Given the description of an element on the screen output the (x, y) to click on. 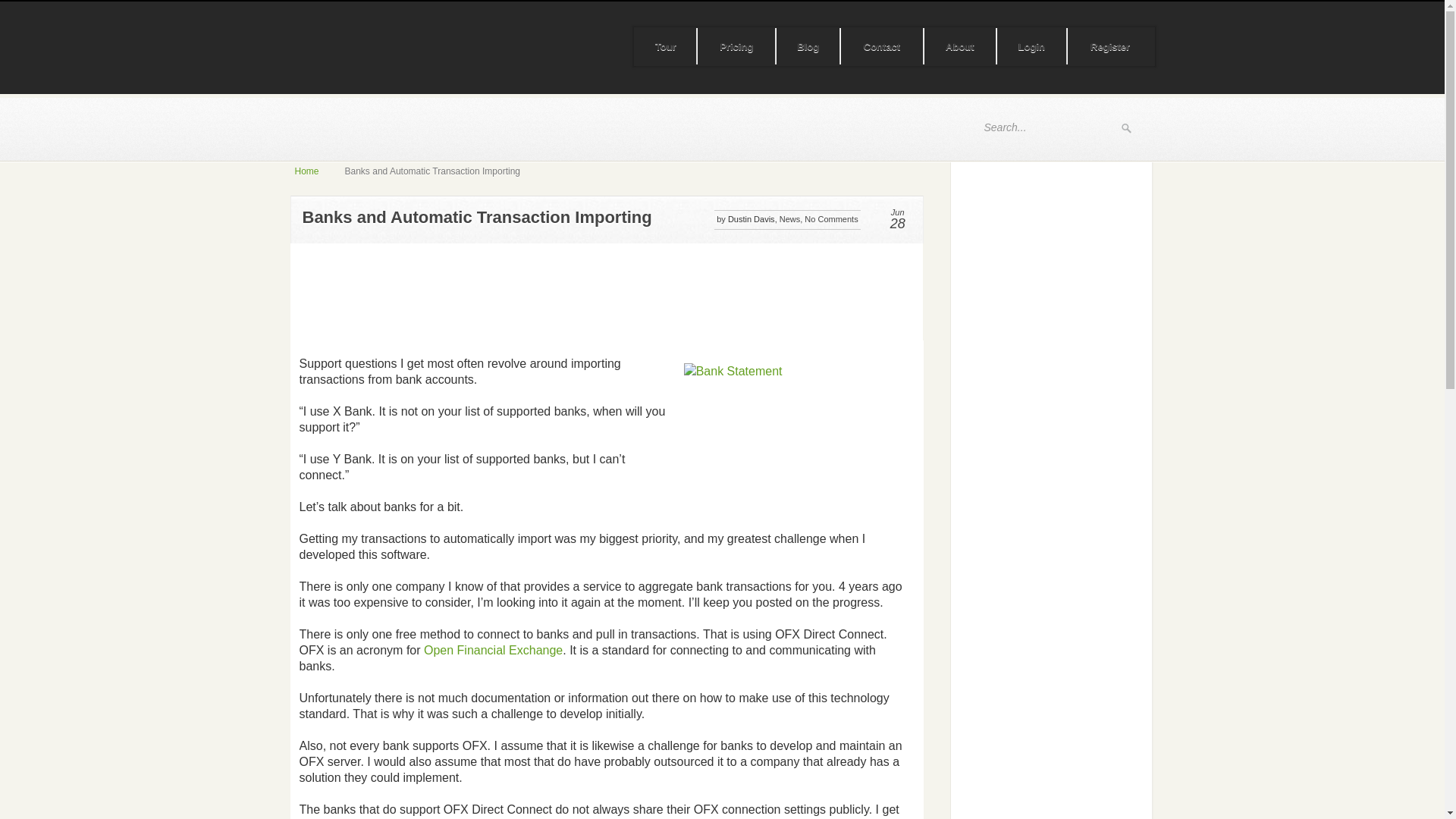
Contact (882, 46)
Tour (665, 46)
Search (1125, 128)
Blog (808, 46)
Search... (1045, 127)
Posts by Dustin Davis (751, 218)
Home (306, 171)
Open Financial Exchange (492, 649)
Search (1125, 128)
Register (1110, 46)
